Given the description of an element on the screen output the (x, y) to click on. 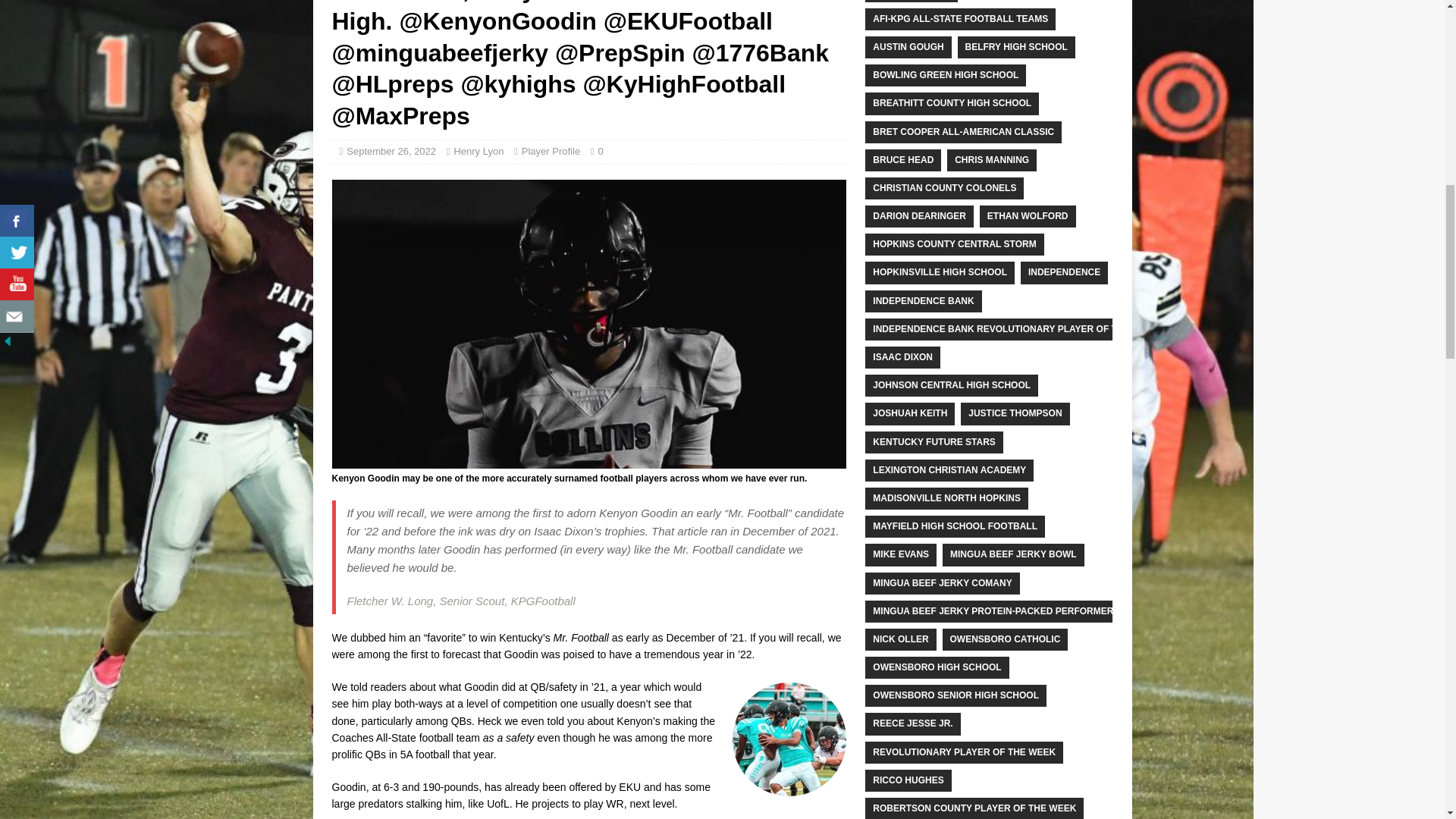
AUSTIN GOUGH (907, 47)
AFI-KPG ALL-STATE FOOTBALL TEAMS (959, 19)
BELFRY HIGH SCHOOL (1016, 47)
Player Profile (550, 151)
BRUCE HEAD (902, 160)
BOWLING GREEN HIGH SCHOOL (945, 75)
Henry Lyon (477, 151)
September 26, 2022 (390, 151)
BRET COOPER ALL-AMERICAN CLASSIC (962, 132)
BREATHITT COUNTY HIGH SCHOOL (951, 103)
